Given the description of an element on the screen output the (x, y) to click on. 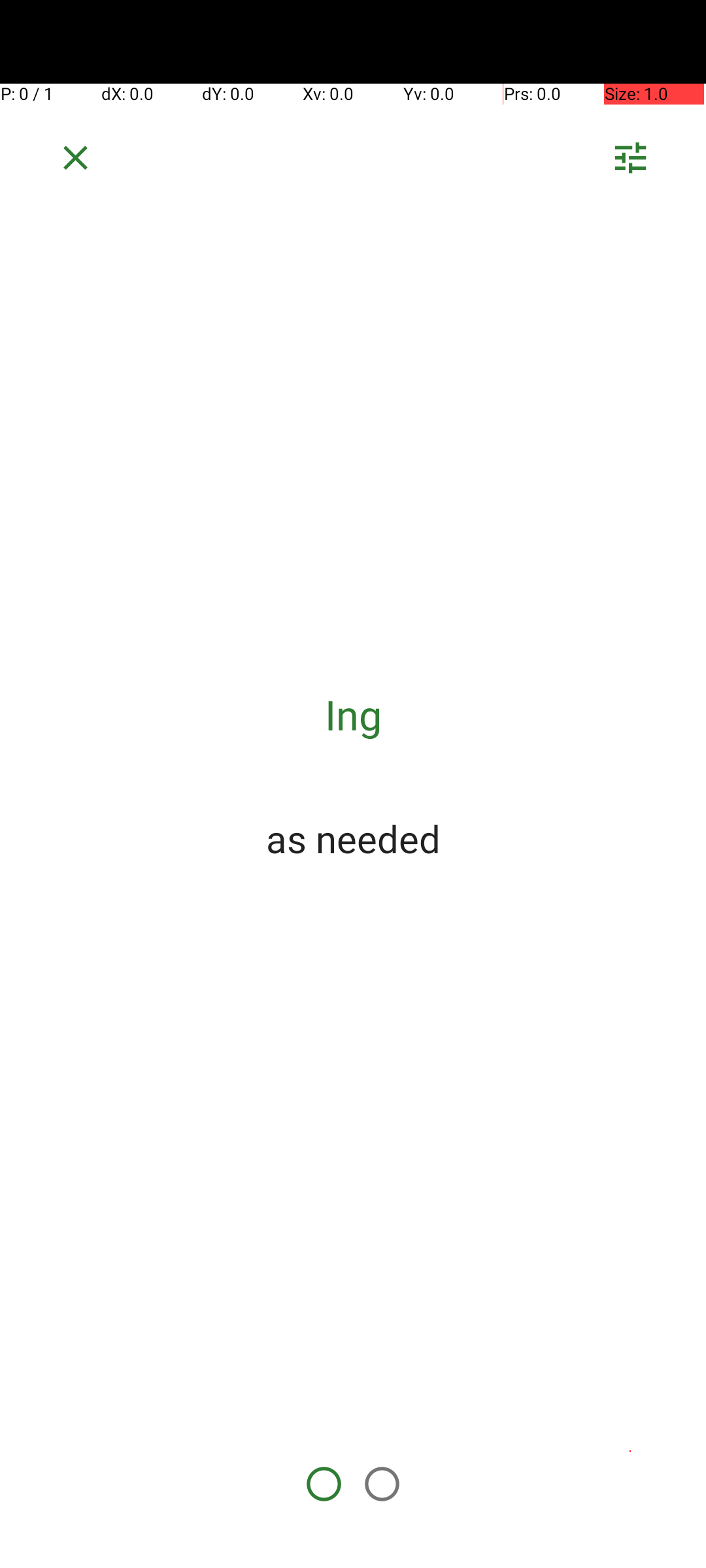
as needed Element type: android.widget.TextView (353, 838)
